Given the description of an element on the screen output the (x, y) to click on. 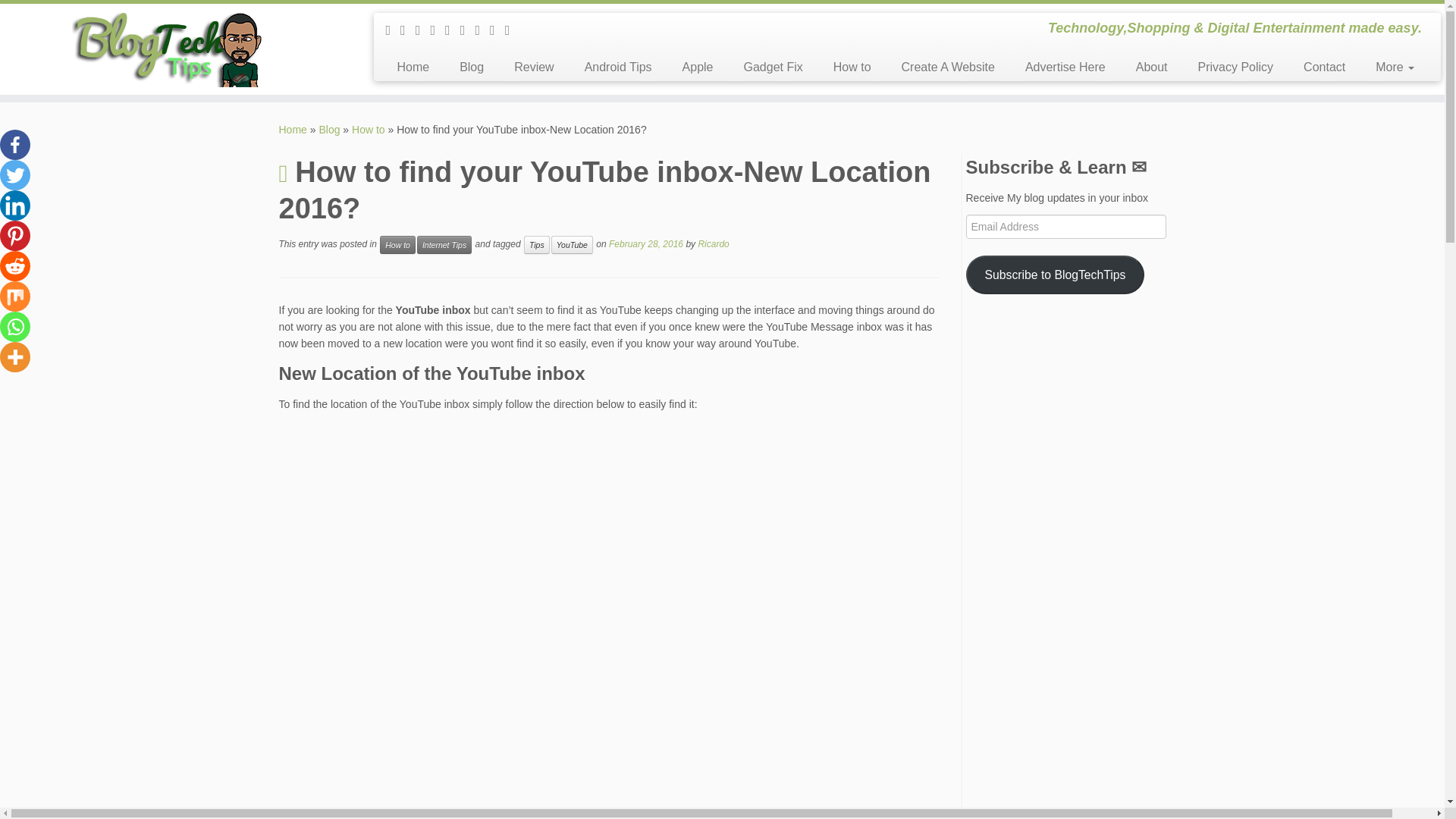
Pin me on Pinterest (497, 29)
BlogTechTips (293, 129)
Blog (328, 129)
View all posts in Tips (537, 244)
Follow me on Twitter (407, 29)
View all posts in Internet Tips (443, 244)
Follow me on WordPress (468, 29)
Follow me on Youtube (481, 29)
Follow me on Instagram (452, 29)
Privacy Policy (1235, 67)
Follow me on LinkedIn (512, 29)
YouTube (571, 244)
Advertise Here (1065, 67)
Internet Tips (443, 244)
Tips (537, 244)
